Given the description of an element on the screen output the (x, y) to click on. 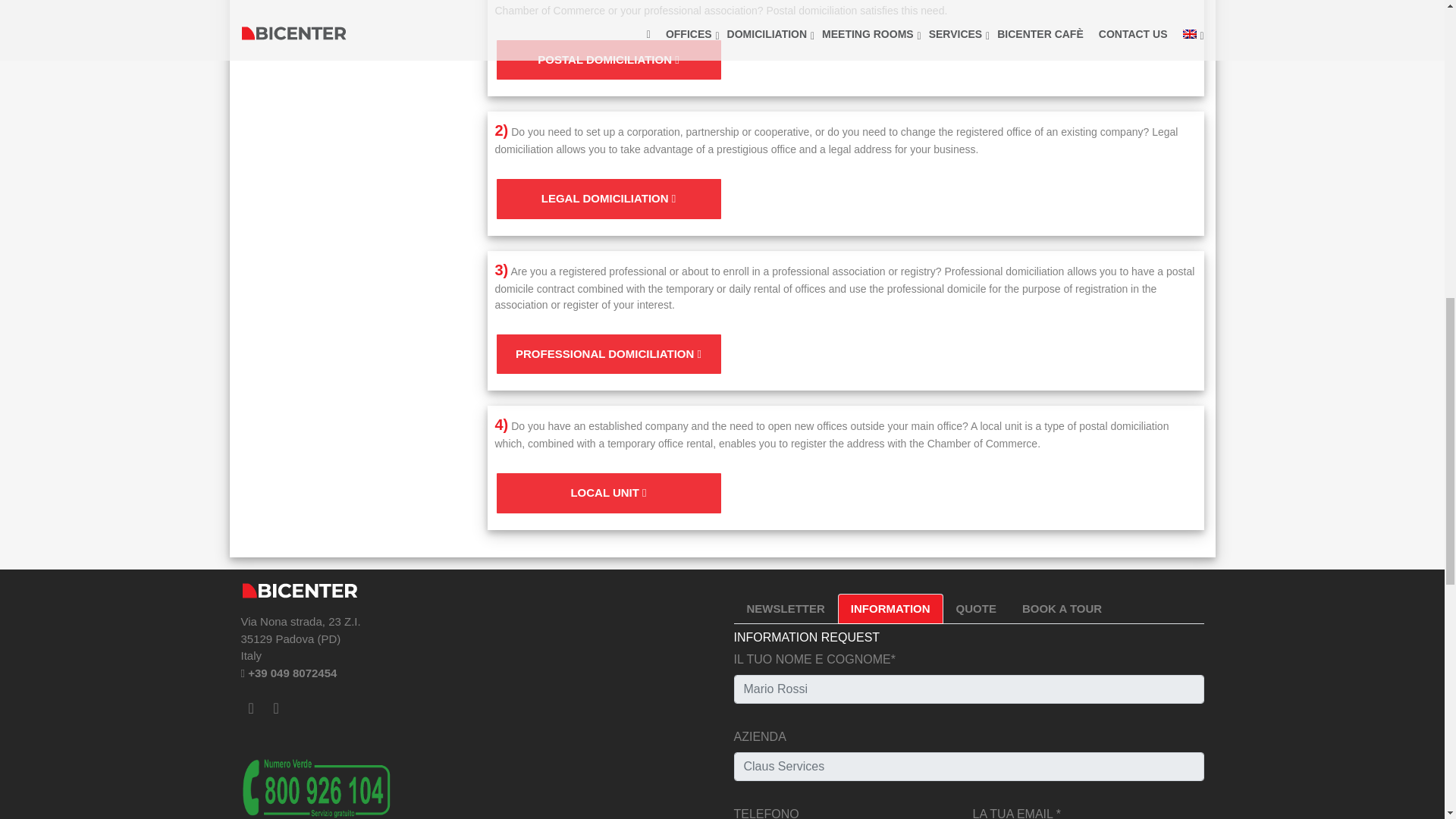
LEGAL DOMICILIATION (608, 198)
POSTAL DOMICILIATION (608, 59)
LOCAL UNIT (608, 493)
PROFESSIONAL DOMICILIATION (608, 353)
